Given the description of an element on the screen output the (x, y) to click on. 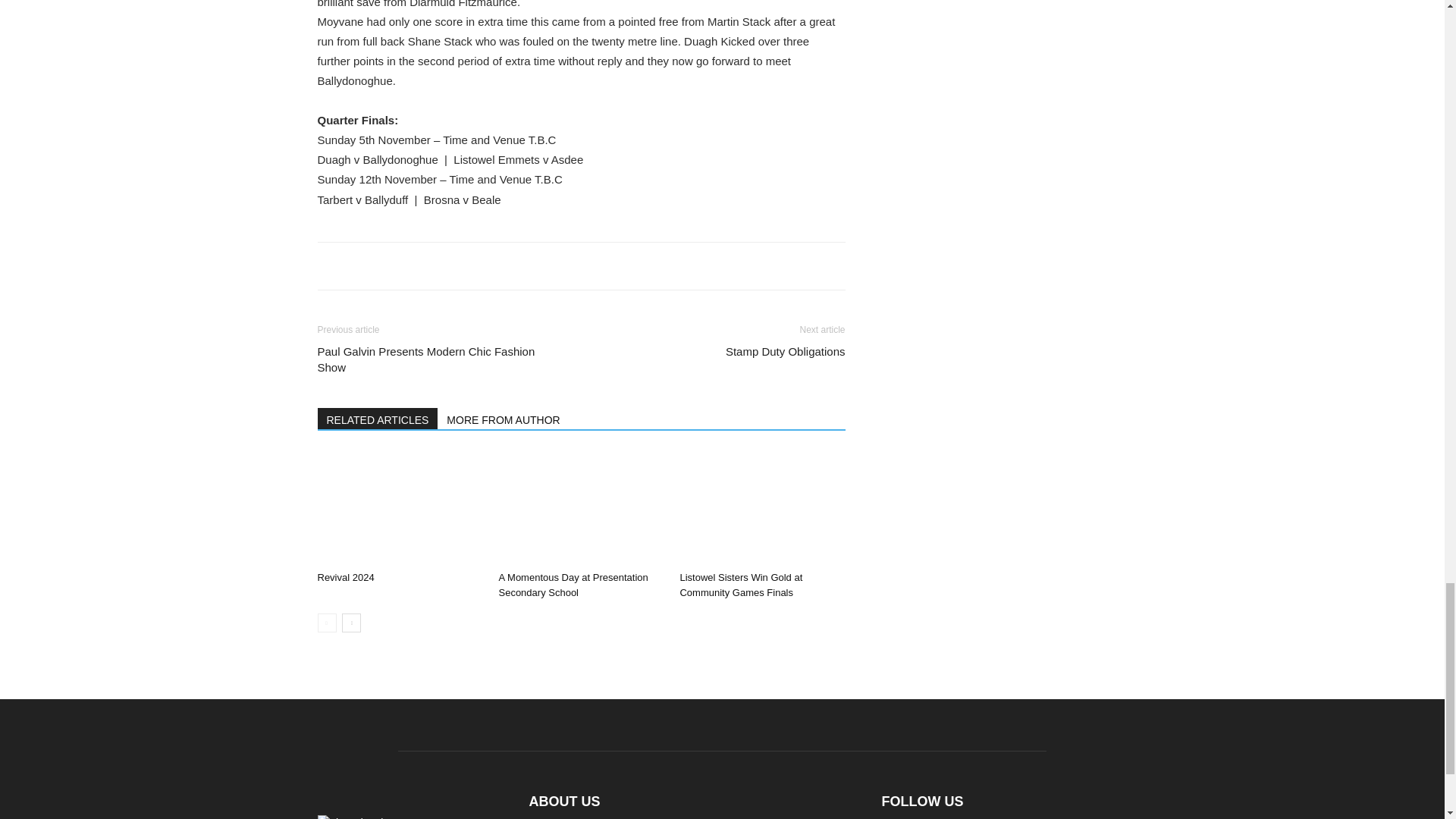
A Momentous Day at Presentation Secondary School (580, 508)
bottomFacebookLike (430, 266)
Revival 2024 (345, 577)
Revival 2024 (399, 508)
